Given the description of an element on the screen output the (x, y) to click on. 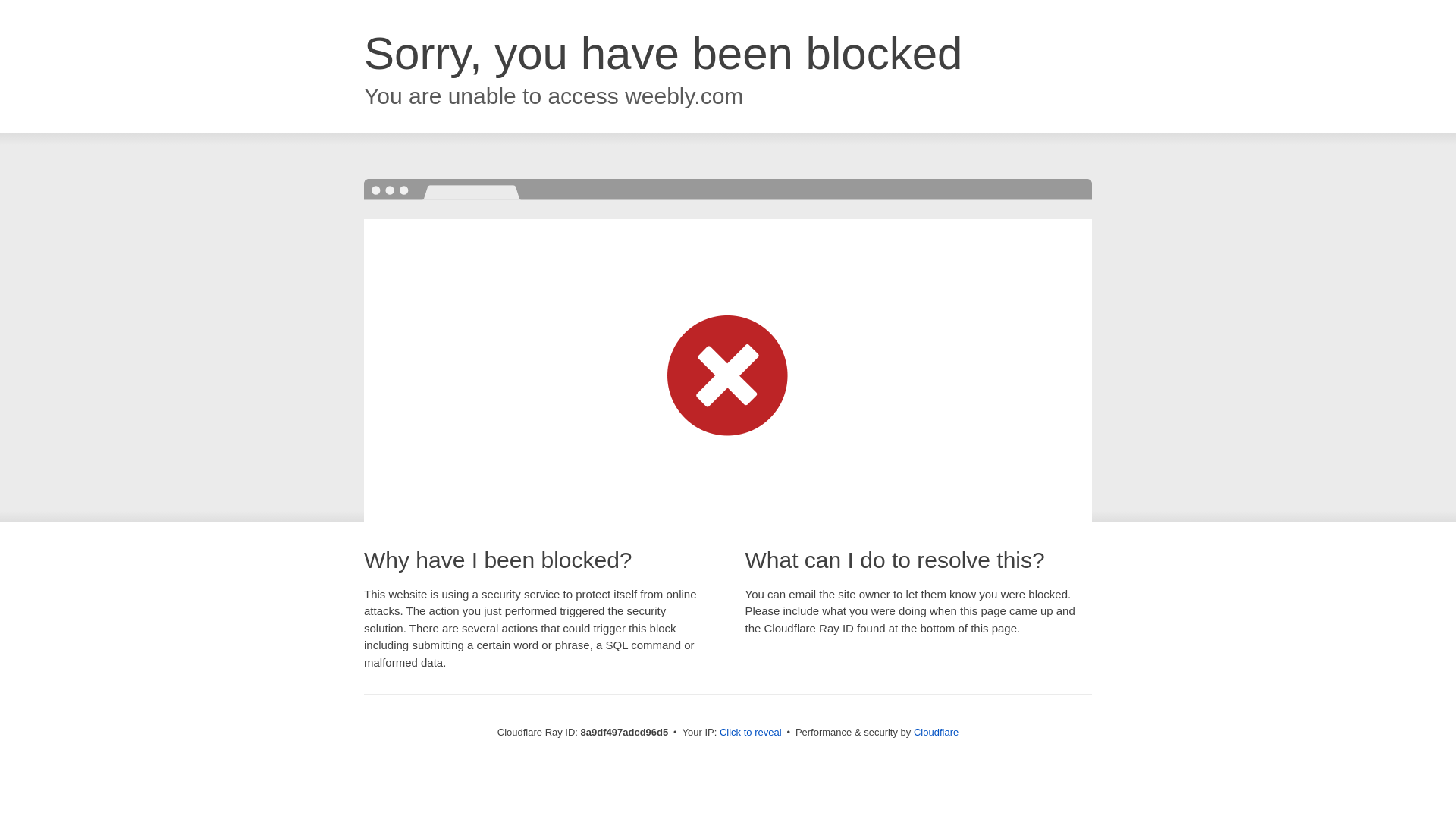
Click to reveal (750, 732)
Cloudflare (936, 731)
